Given the description of an element on the screen output the (x, y) to click on. 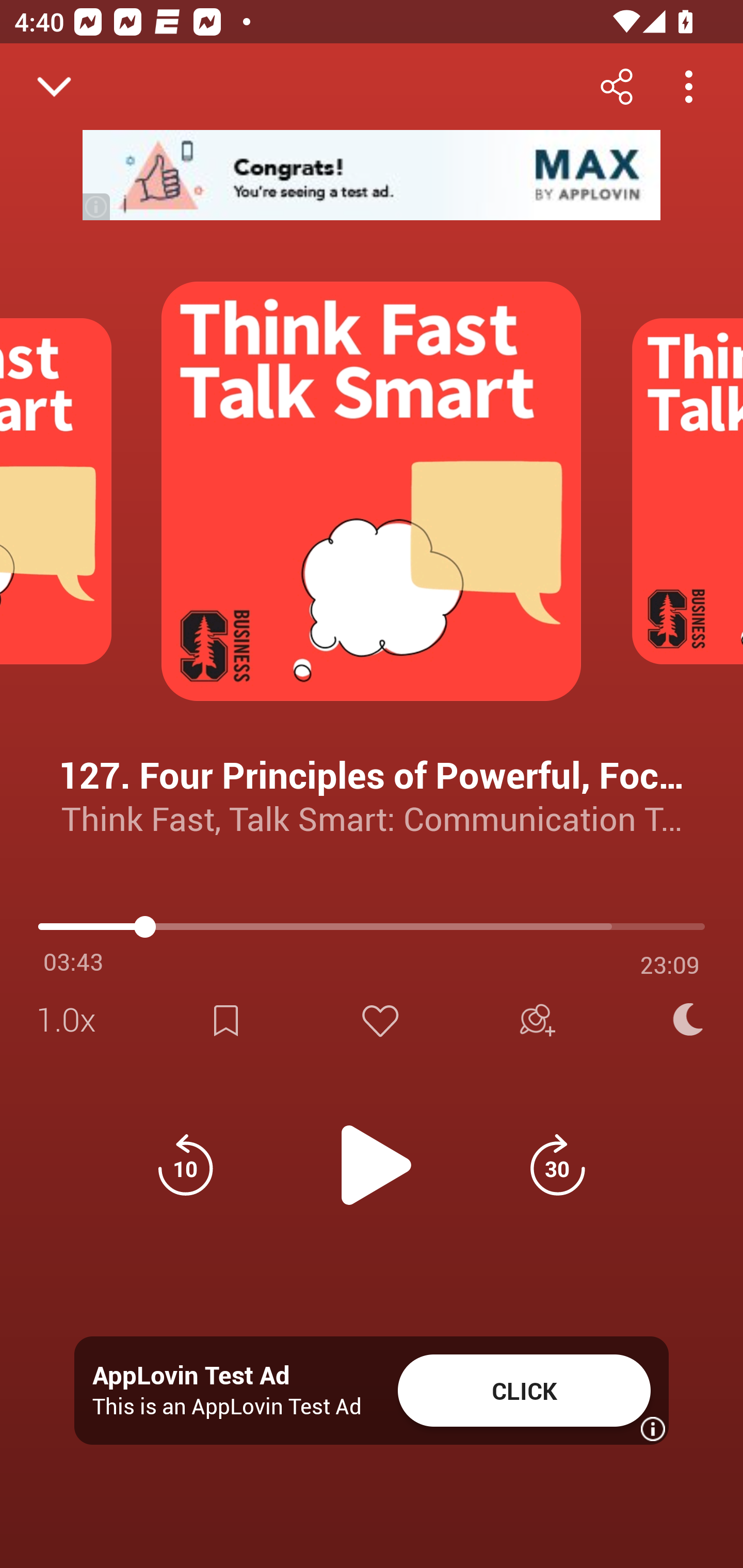
Close fullscreen player (54, 86)
Share (616, 86)
More options (688, 86)
app-monetization (371, 175)
(i) (96, 206)
Think Fast, Talk Smart: Communication Techniques (371, 818)
23:09 (669, 964)
1.0x Speed (72, 1020)
Like (380, 1020)
Play button (371, 1153)
Jump back (185, 1164)
Jump forward (557, 1164)
CLICK (523, 1390)
AppLovin Test Ad (191, 1375)
This is an AppLovin Test Ad (226, 1406)
